Given the description of an element on the screen output the (x, y) to click on. 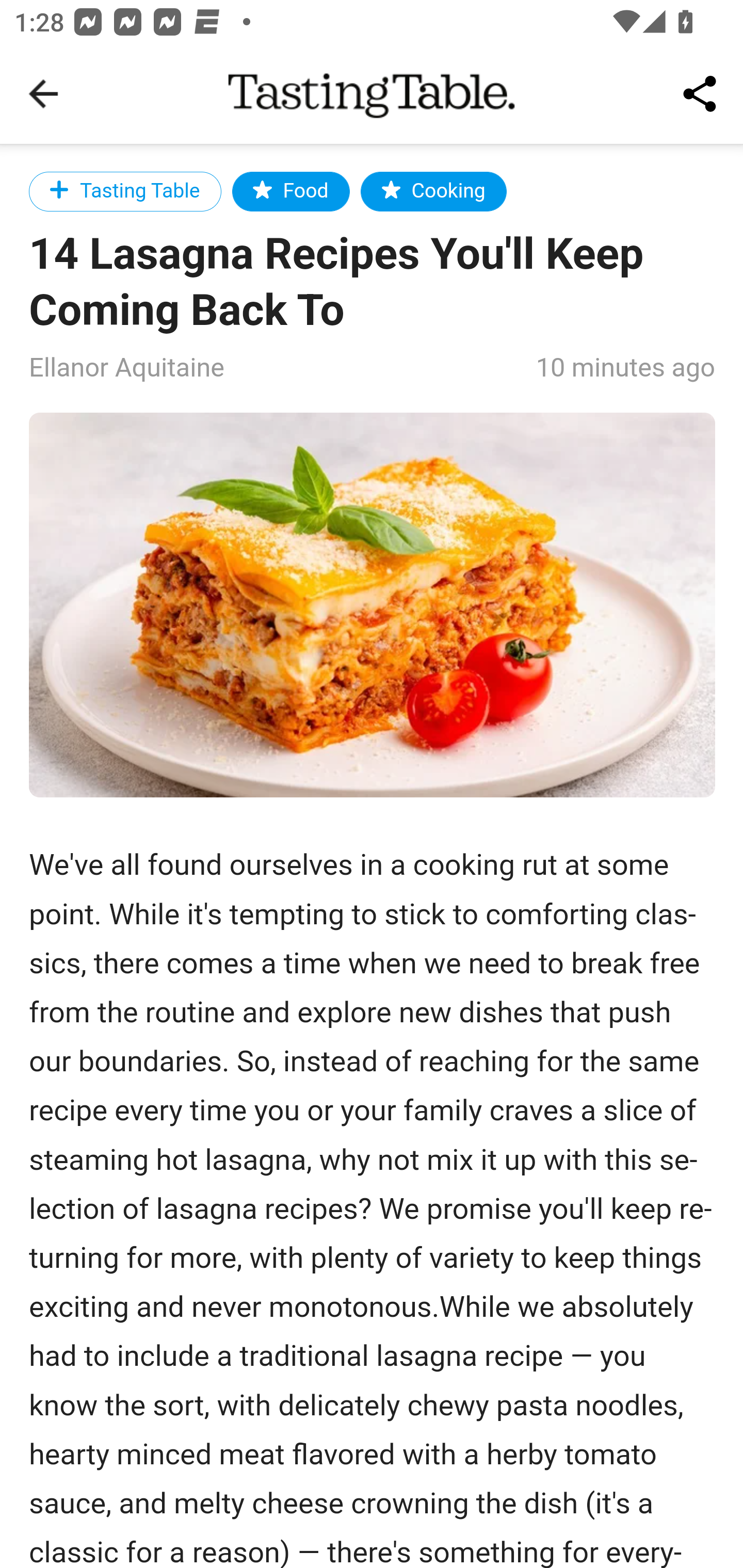
Tasting Table (125, 191)
Food (290, 191)
Cooking (432, 191)
